Given the description of an element on the screen output the (x, y) to click on. 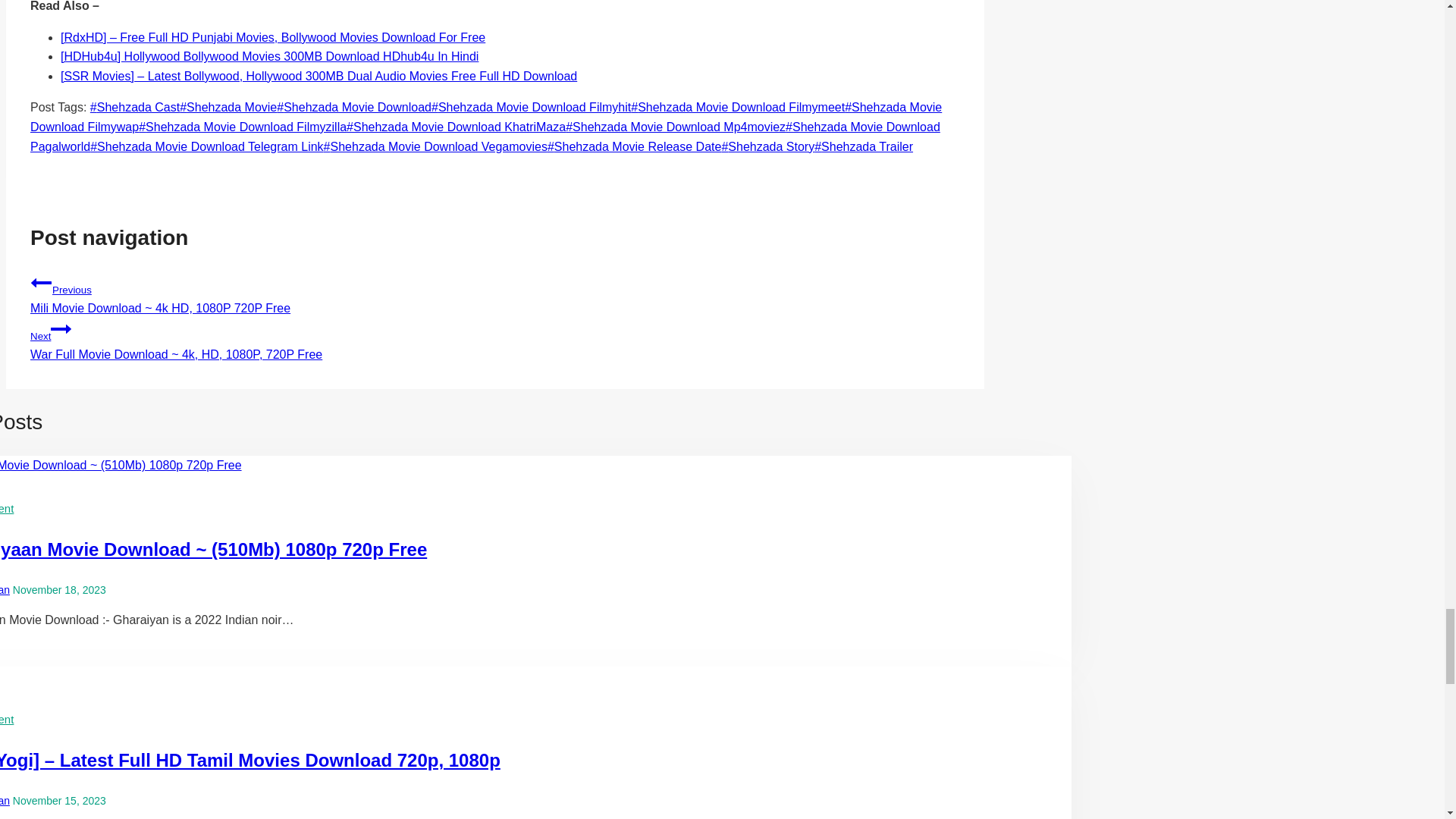
Shehzada Movie Download Pagalworld (485, 136)
Shehzada Movie Download Filmymeet (737, 106)
Shehzada Movie Release Date (633, 146)
Shehzada Movie Download Filmyhit (530, 106)
Shehzada Movie Download KhatriMaza (456, 126)
Shehzada Movie Download Filmywap (486, 116)
Continue (60, 328)
Shehzada Cast (134, 106)
Shehzada Movie Download Telegram Link (206, 146)
Shehzada Trailer (862, 146)
Shehzada Story (766, 146)
Shehzada Movie (227, 106)
Shehzada Movie Download Vegamovies (435, 146)
Previous (41, 282)
Shehzada Movie Download (353, 106)
